Given the description of an element on the screen output the (x, y) to click on. 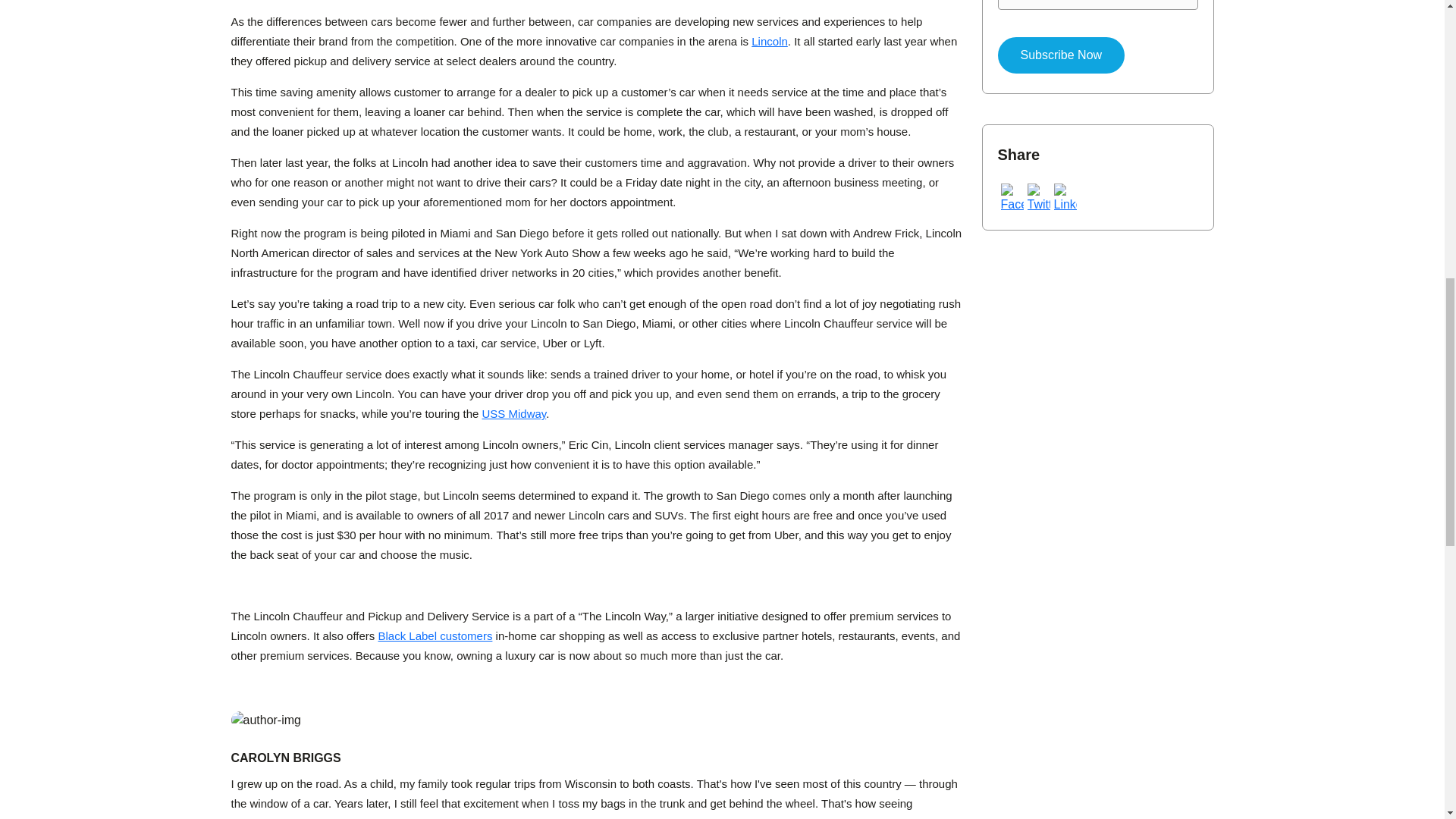
Subscribe Now (1061, 54)
USS Midway (514, 413)
Subscribe Now (1061, 54)
Black Label customers (434, 635)
Lincoln (769, 41)
